Given the description of an element on the screen output the (x, y) to click on. 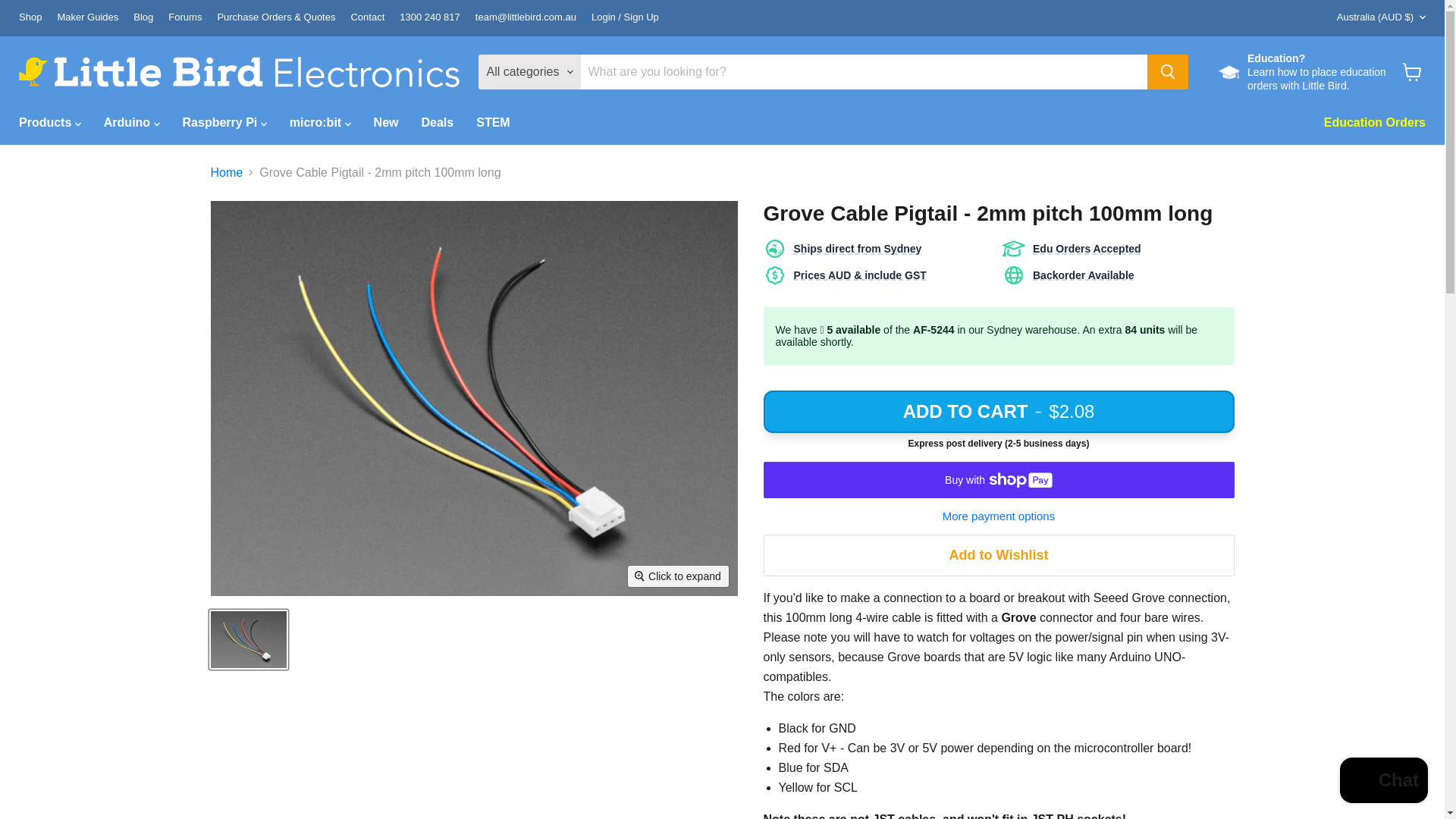
Contact (367, 17)
Blog (142, 17)
1300 240 817 (429, 17)
Maker Guides (86, 17)
Forums (185, 17)
Shop (30, 17)
